Given the description of an element on the screen output the (x, y) to click on. 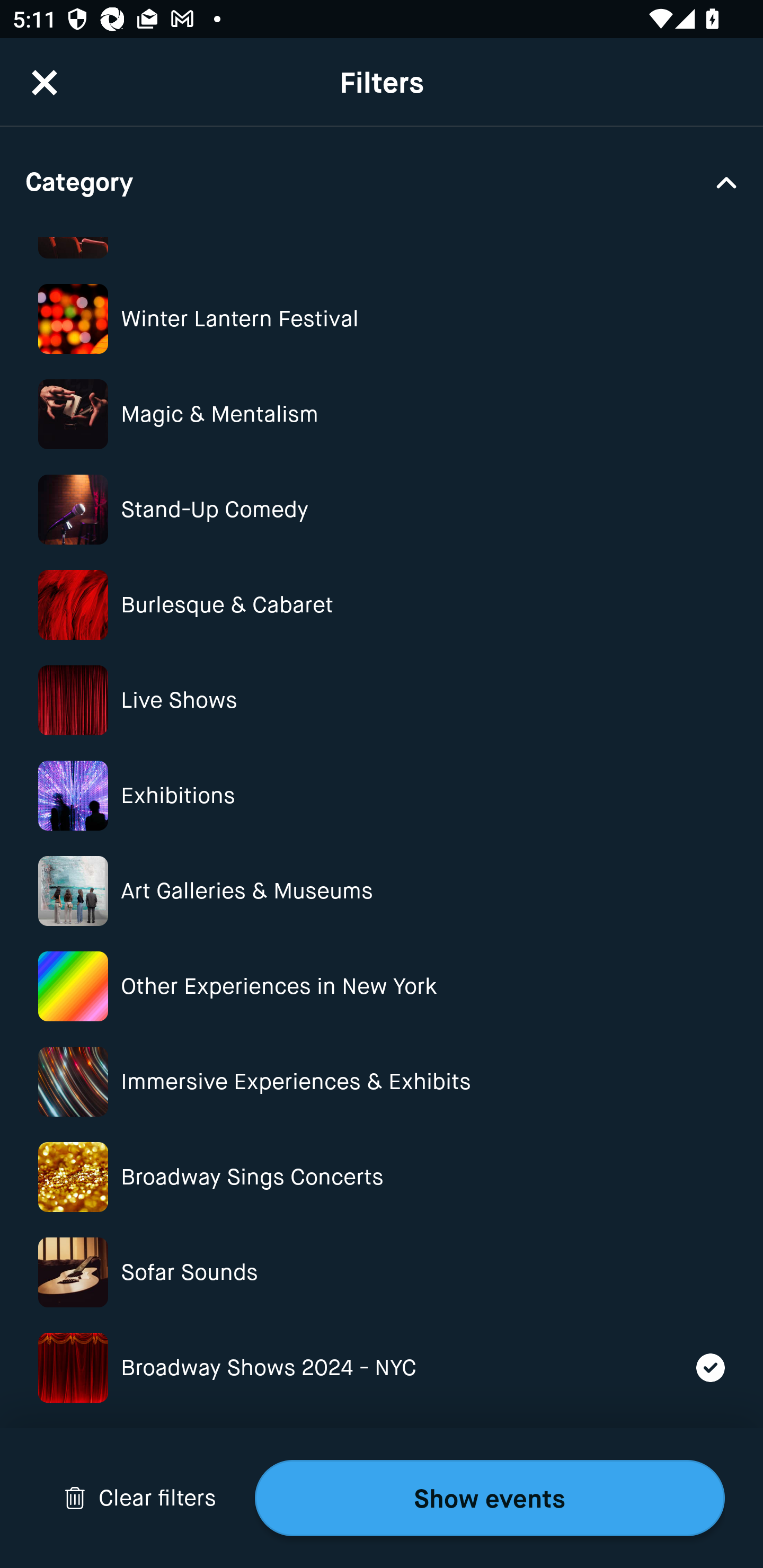
Category Drop Down Arrow (381, 181)
Category Image Winter Lantern Festival (381, 318)
Category Image Magic & Mentalism (381, 414)
Category Image Stand-Up Comedy (381, 509)
Category Image Burlesque & Cabaret (381, 604)
Category Image Live Shows (381, 699)
Category Image Exhibitions (381, 795)
Category Image Art Galleries & Museums (381, 890)
Category Image Other Experiences in New York (381, 985)
Category Image Immersive Experiences & Exhibits (381, 1081)
Category Image Broadway Sings Concerts (381, 1176)
Category Image Sofar Sounds (381, 1272)
Drop Down Arrow Clear filters (139, 1497)
Show events (489, 1497)
